Given the description of an element on the screen output the (x, y) to click on. 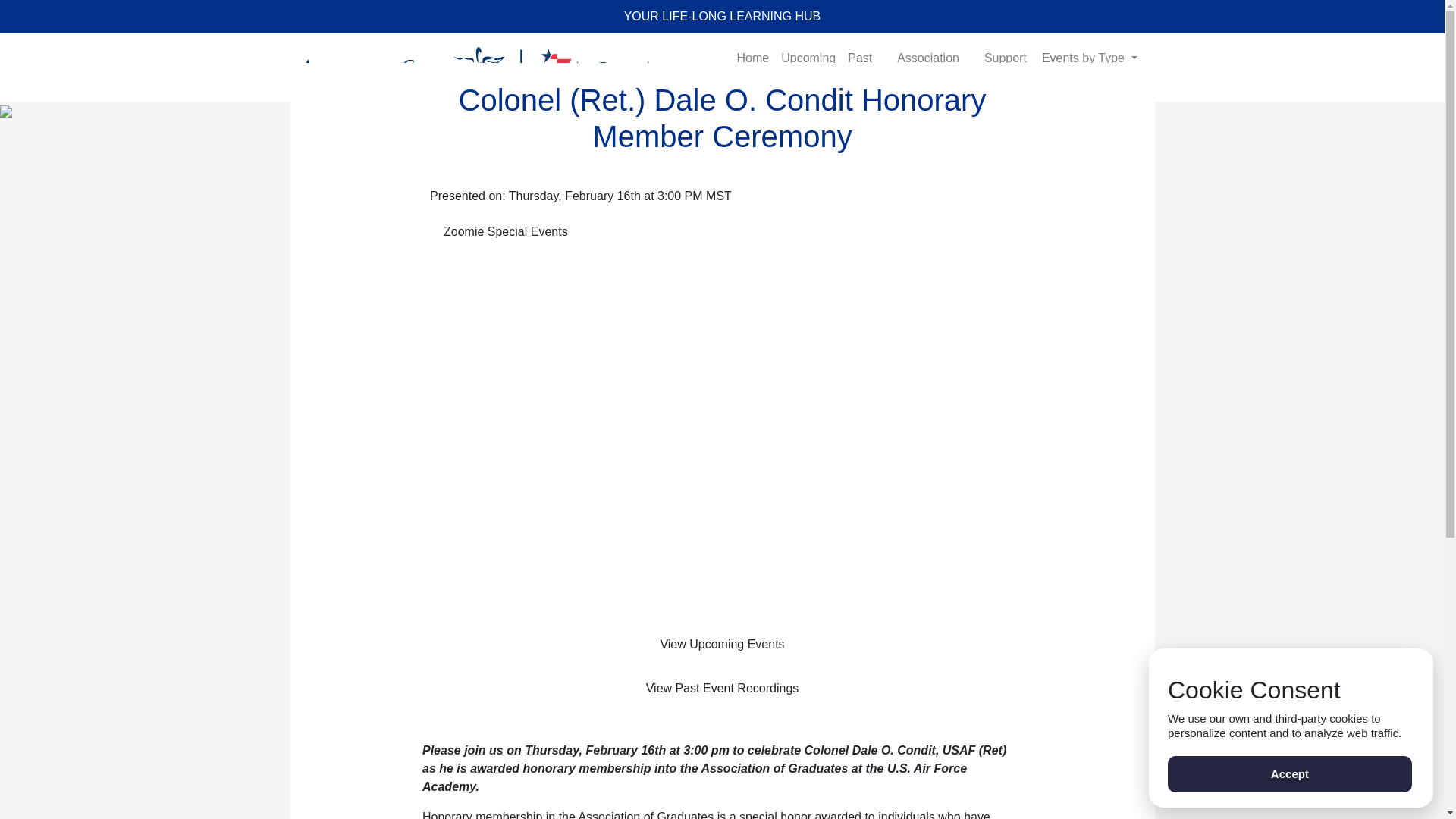
Accept (1289, 773)
Past Events (866, 67)
View Upcoming Events (722, 644)
Zoomie Special Events (505, 231)
Events by Type (1088, 58)
Upcoming Events (807, 67)
Support USAFA (1006, 67)
View Past Event Recordings (722, 688)
Association of Graduates (934, 67)
